Given the description of an element on the screen output the (x, y) to click on. 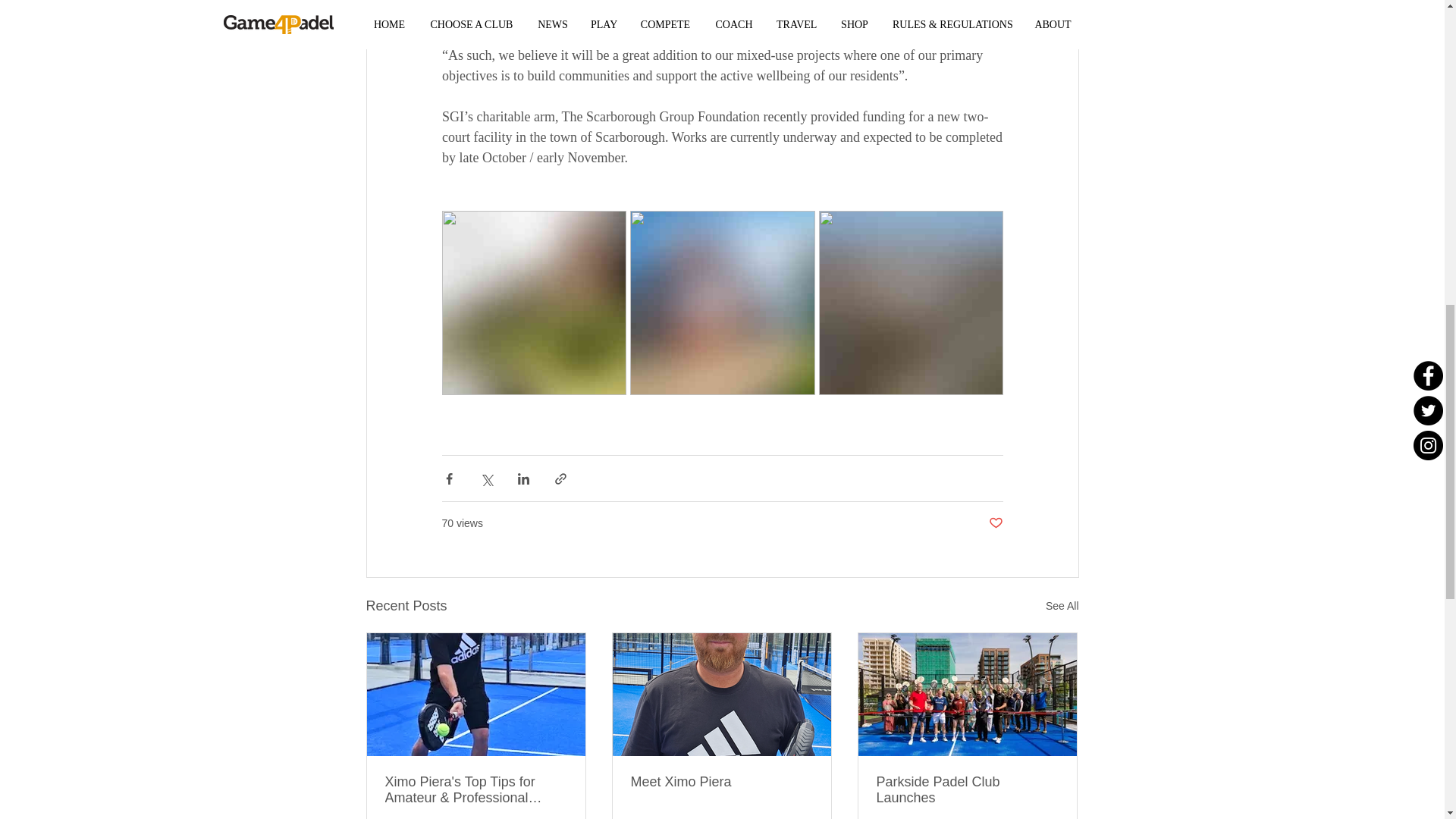
Post not marked as liked (995, 523)
See All (1061, 606)
